Given the description of an element on the screen output the (x, y) to click on. 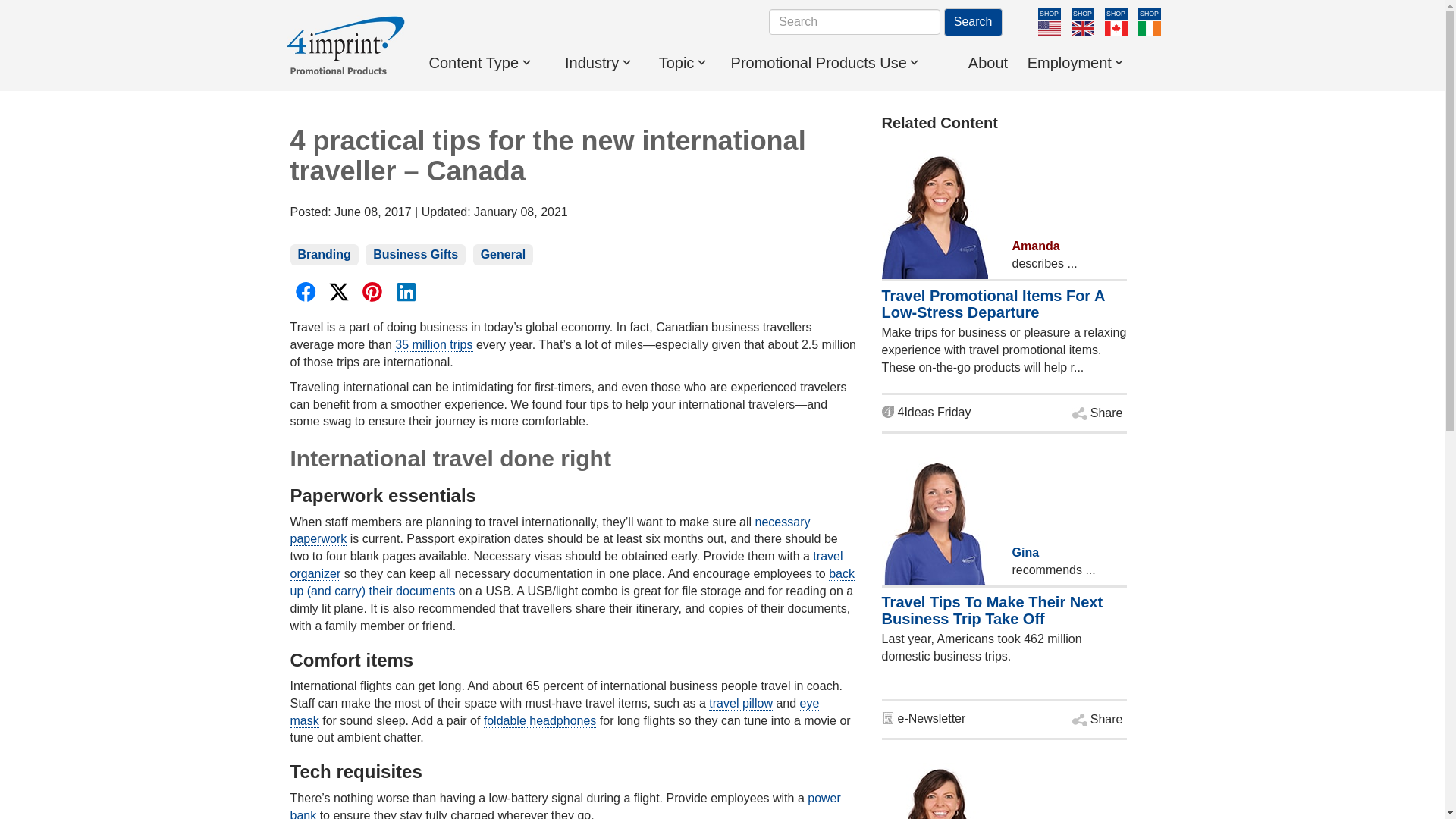
4imprint US site, opens in a new window (1047, 28)
Shop (1081, 13)
View Travel promotional items for a low-stress departure (925, 411)
Search (973, 22)
Shop (1047, 13)
4imprint Ireland site, opens in a new window (1148, 28)
4imprint Canada site, opens in a new window (1114, 28)
Shop (1148, 13)
Shop (1114, 13)
4imprint UK site, opens in a new window (1081, 28)
